Given the description of an element on the screen output the (x, y) to click on. 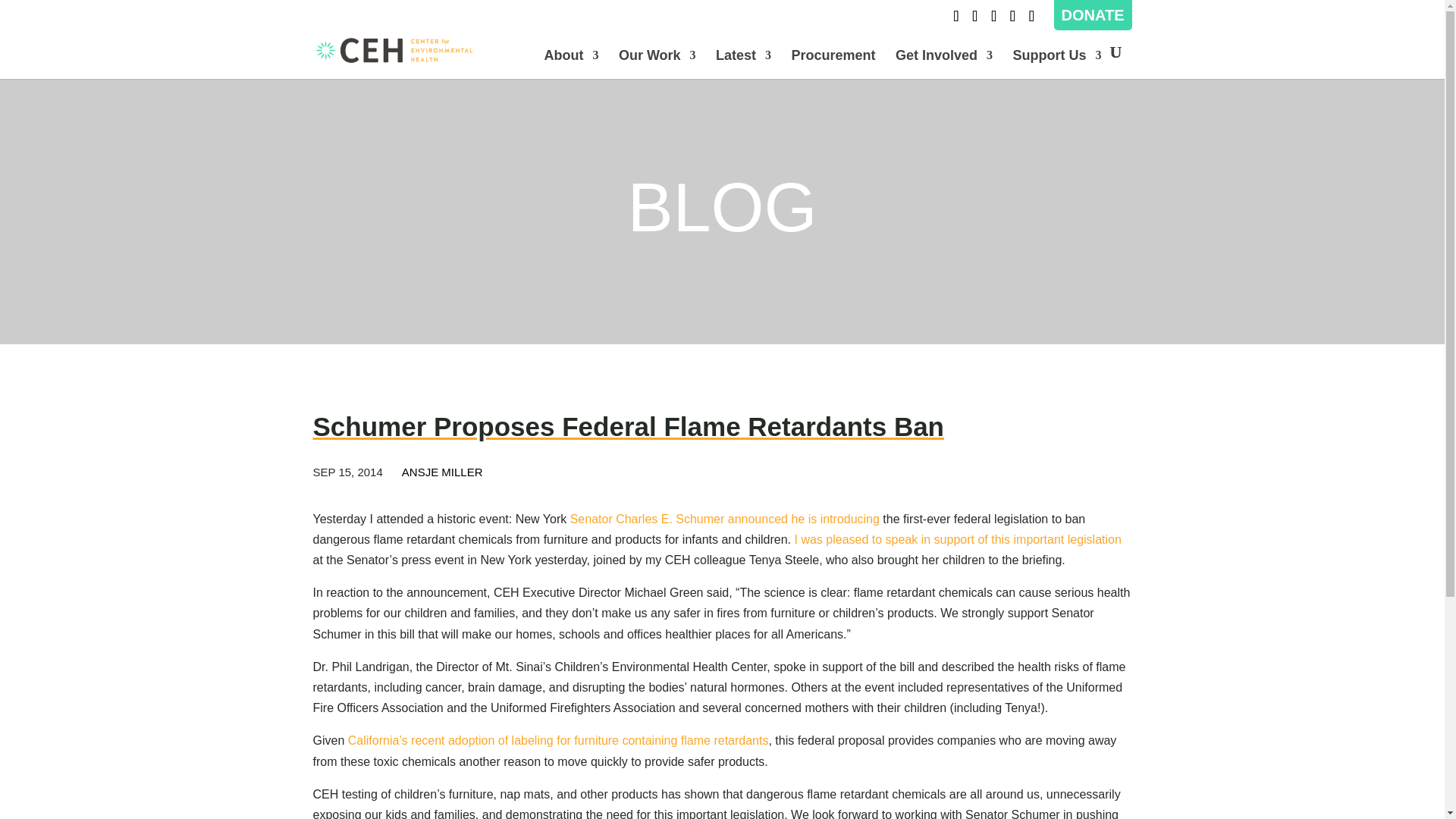
About (570, 63)
Latest (743, 63)
Get Involved (943, 63)
Support Us (1057, 63)
Our Work (656, 63)
Procurement (834, 63)
DONATE (1092, 15)
Posts by Ansje Miller (442, 472)
